Given the description of an element on the screen output the (x, y) to click on. 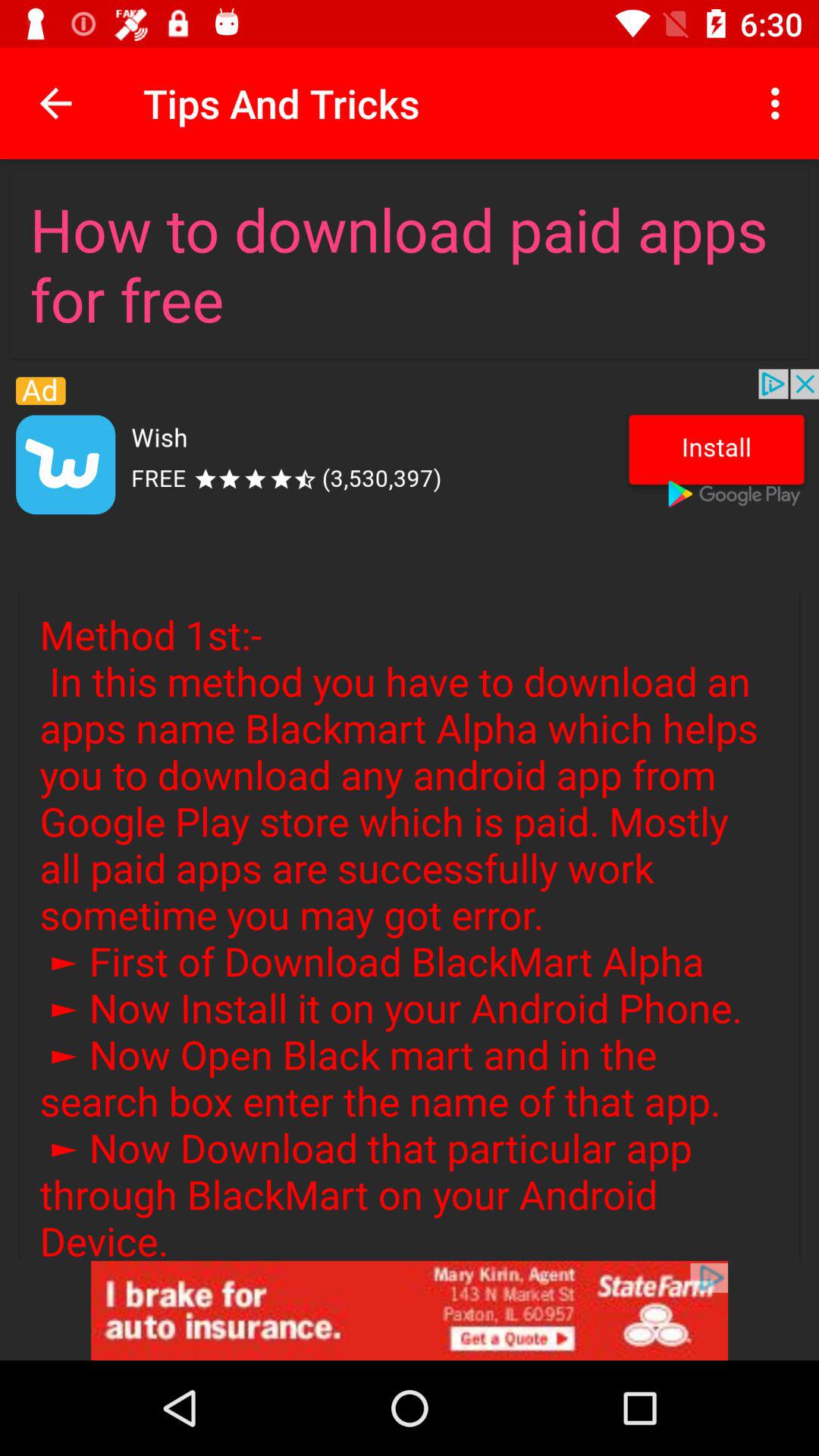
view the adversitement (409, 448)
